Given the description of an element on the screen output the (x, y) to click on. 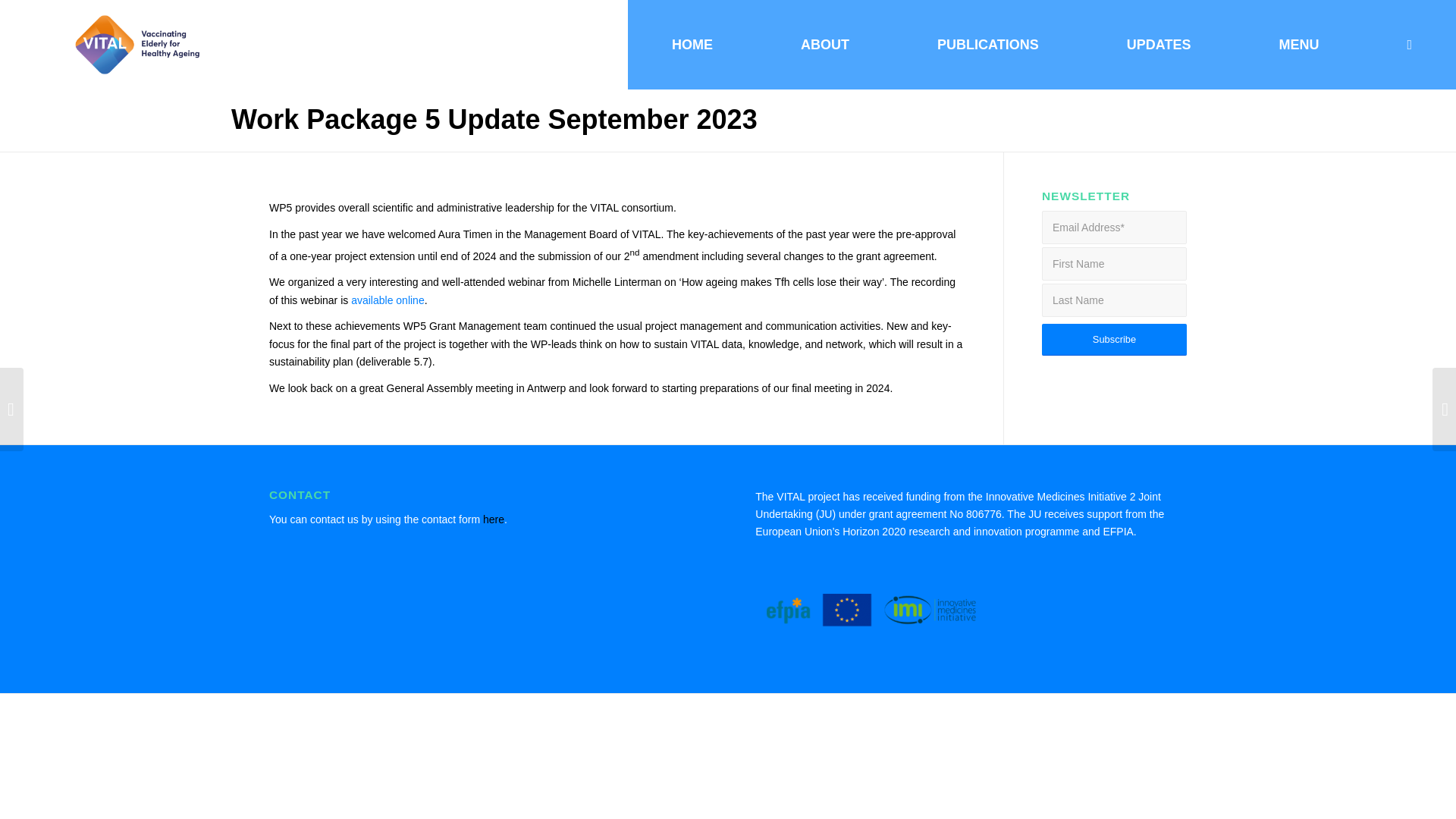
Subscribe (1114, 339)
Subscribe (1114, 339)
here (491, 519)
Work Package 5 Update September 2023 (494, 119)
UPDATES (1158, 44)
Permanent Link: Work Package 5 Update September 2023 (494, 119)
available online (387, 300)
PUBLICATIONS (987, 44)
